Given the description of an element on the screen output the (x, y) to click on. 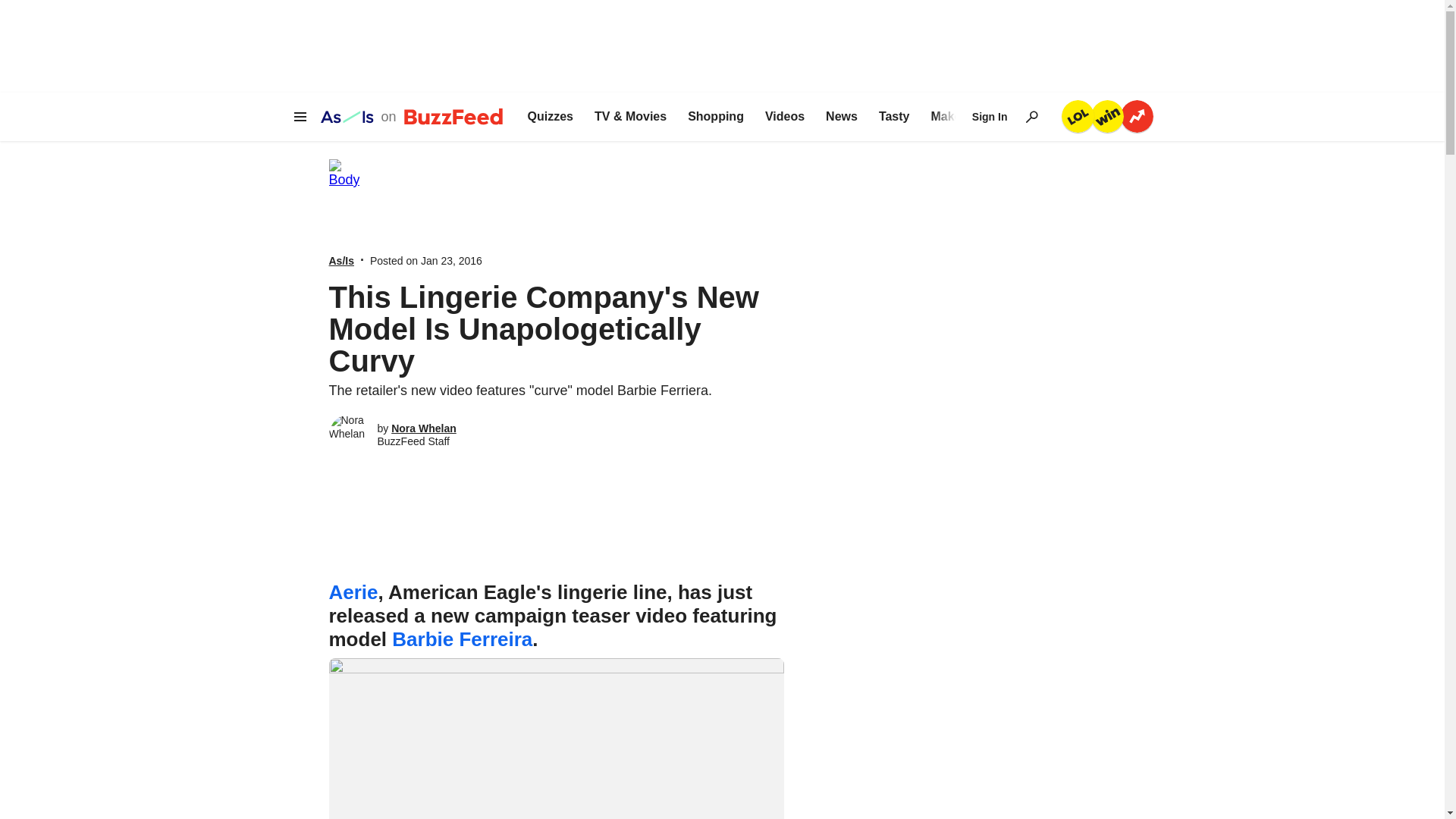
Tasty (894, 116)
trending Badge Feed (1137, 115)
News (841, 116)
Make a Quiz (965, 116)
Sign In (989, 116)
Shopping (715, 116)
lol Badge Feed (1077, 115)
win Badge Feed (1106, 115)
Videos (785, 116)
Quizzes (550, 116)
